Given the description of an element on the screen output the (x, y) to click on. 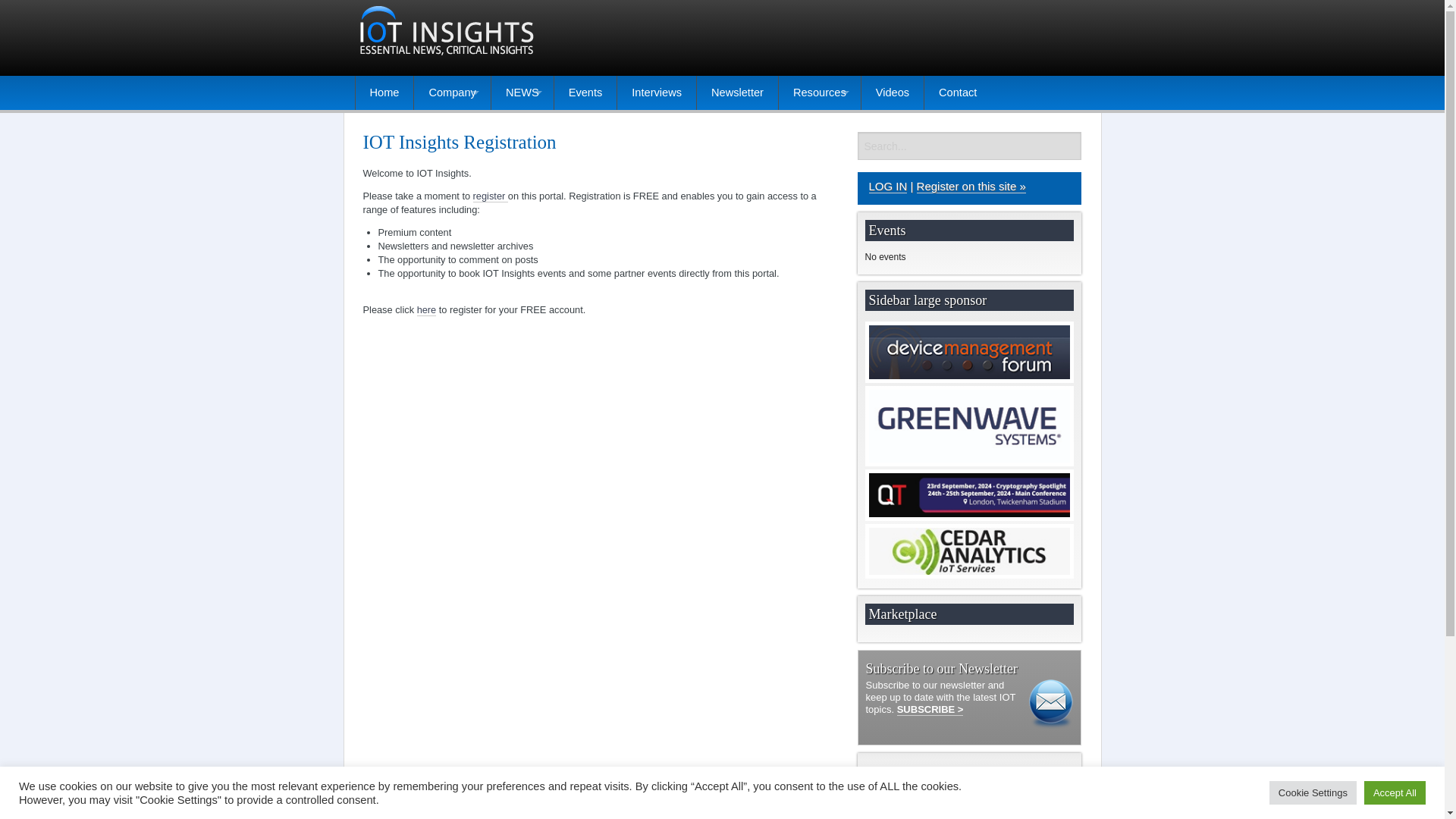
Marketplace (451, 161)
NEWS (522, 92)
Home (384, 92)
Company (451, 92)
About IOT Insights (451, 126)
Advertise (451, 195)
Free Newsletter (929, 709)
